Given the description of an element on the screen output the (x, y) to click on. 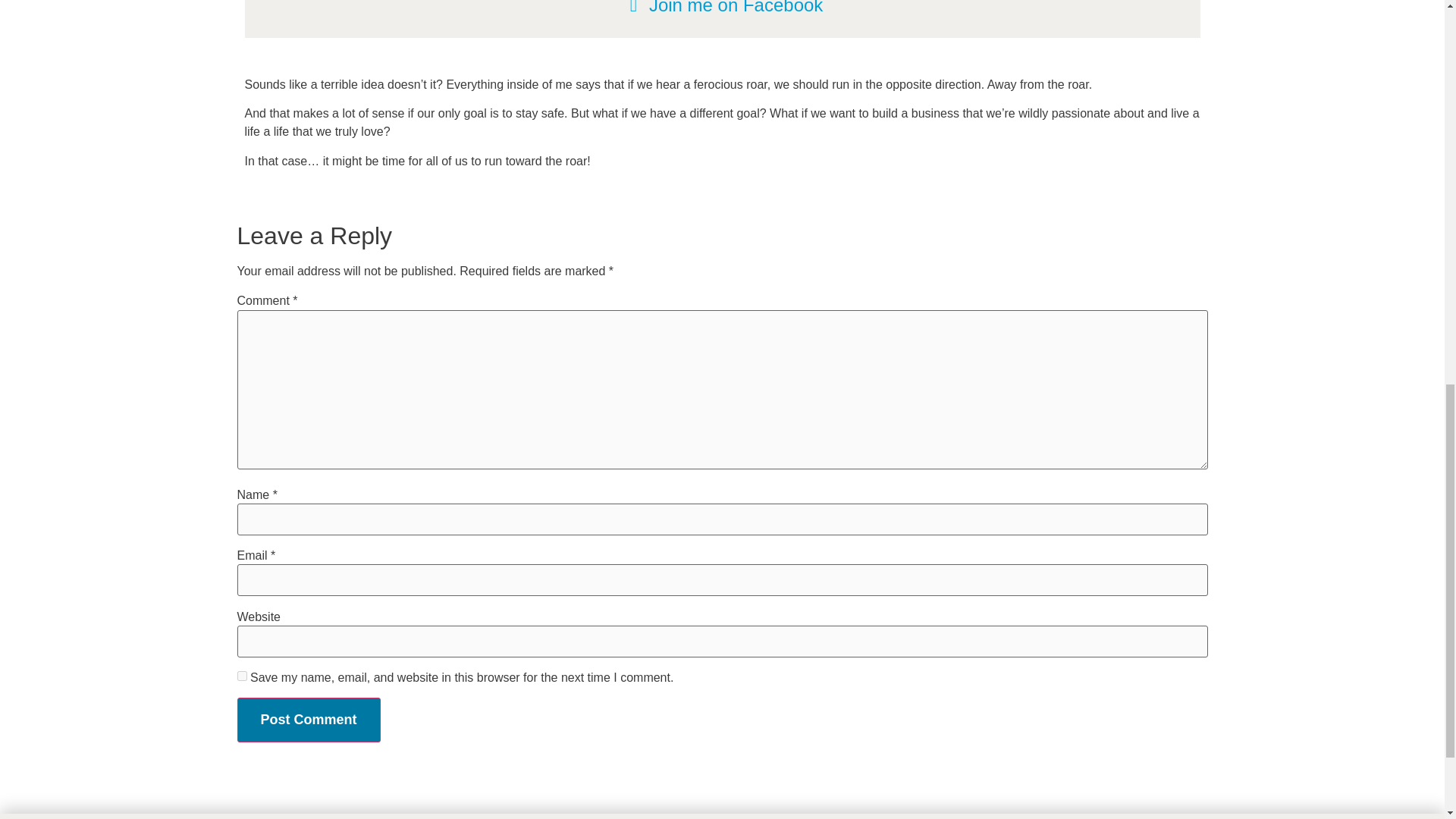
Post Comment (307, 719)
yes (240, 675)
Join me on Facebook (721, 9)
Post Comment (307, 719)
